Given the description of an element on the screen output the (x, y) to click on. 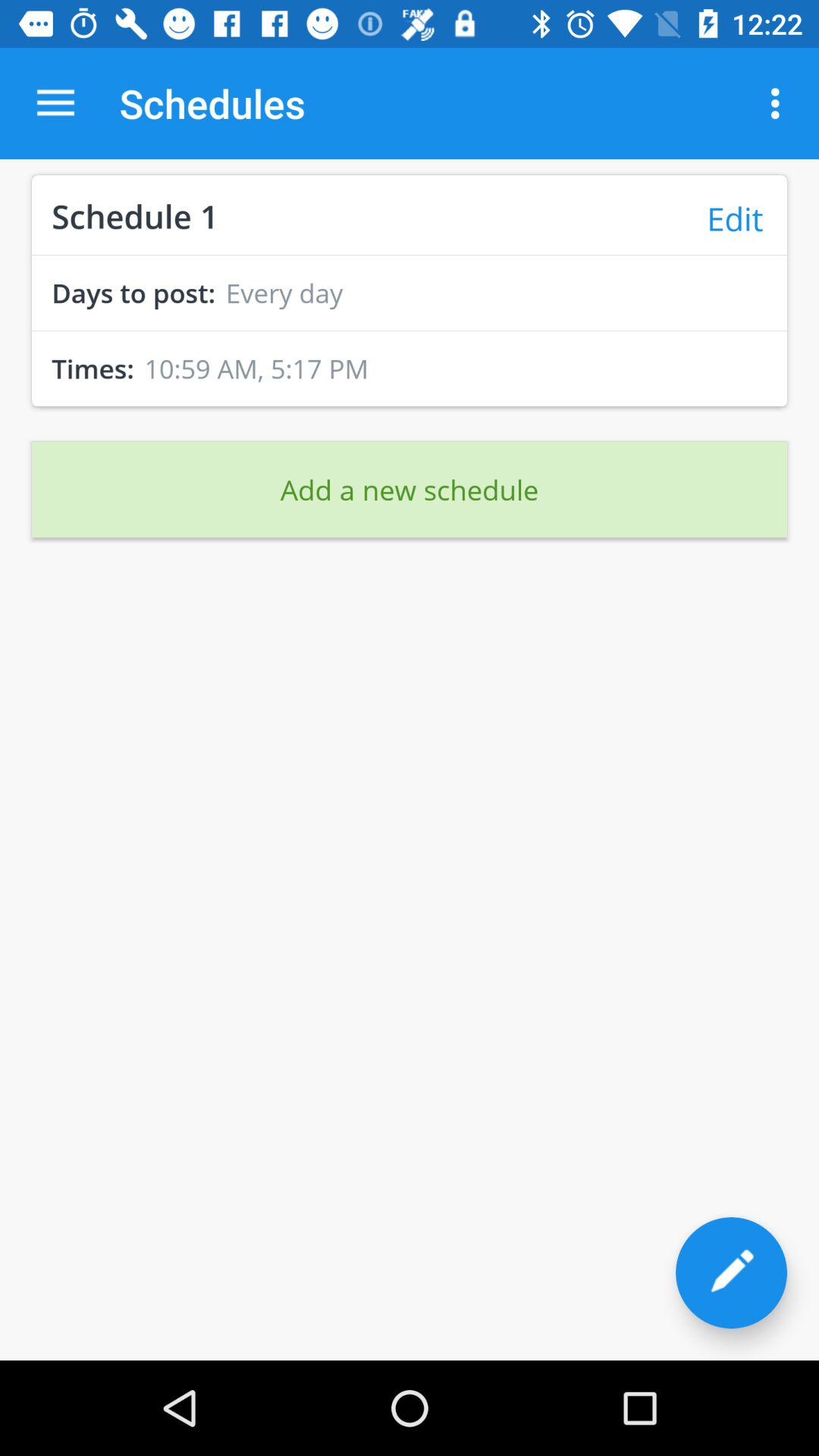
tap app next to the schedules app (55, 103)
